Given the description of an element on the screen output the (x, y) to click on. 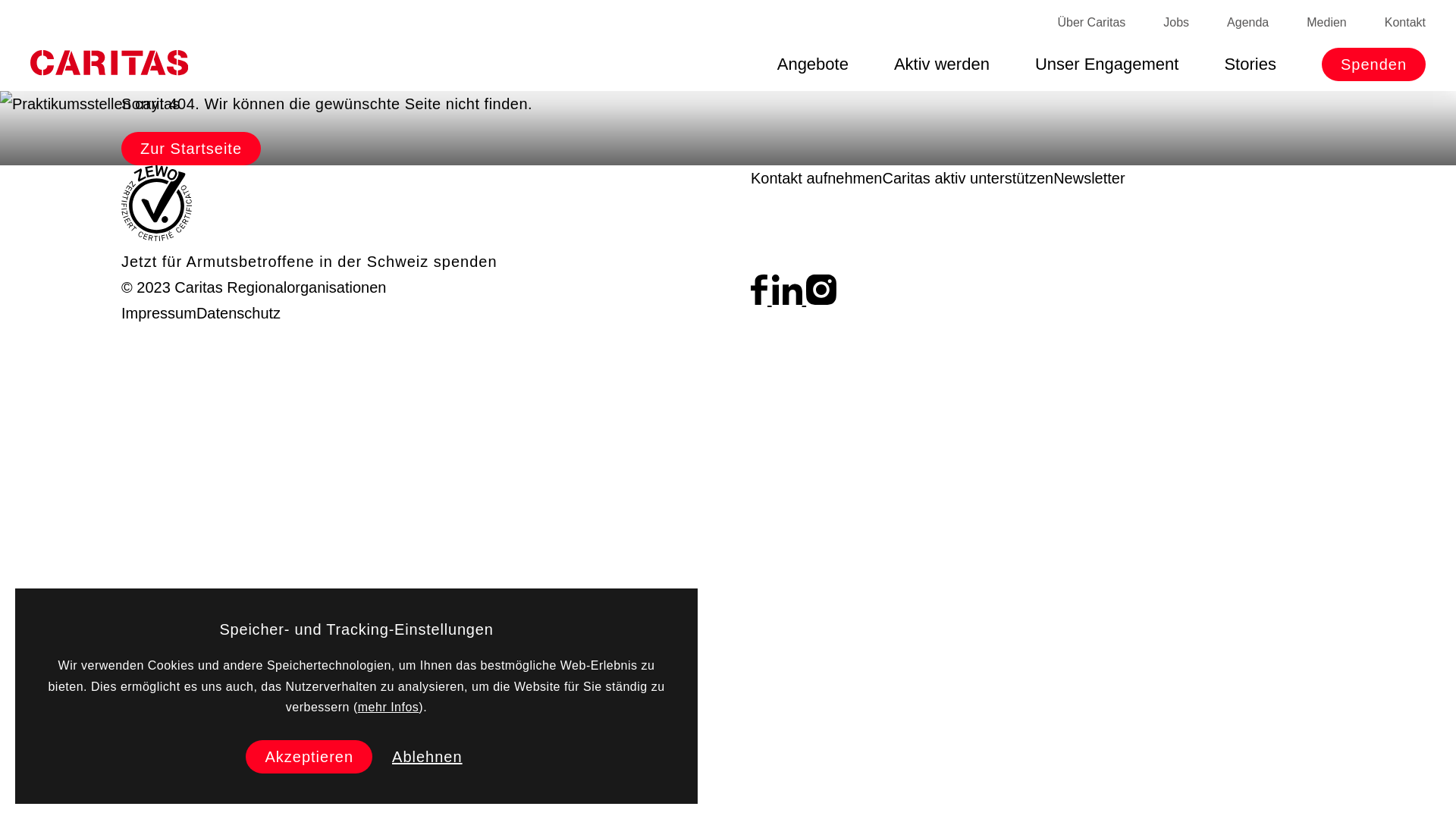
mehr Infos Element type: text (388, 706)
Aktiv werden Element type: text (941, 64)
Unser Engagement Element type: text (1107, 64)
Zewo Element type: text (156, 235)
Ablehnen Element type: text (427, 756)
Spenden Element type: text (1373, 64)
Datenschutz Element type: text (238, 312)
Agenda Element type: text (1247, 21)
Impressum Element type: text (158, 312)
Stories Element type: text (1249, 64)
Medien Element type: text (1326, 21)
Zur Startseite Element type: text (190, 148)
Startseite Element type: text (109, 62)
Kontakt Element type: text (1404, 21)
Open sub menu Element type: text (18, 18)
Angebote Element type: text (812, 64)
Kontakt aufnehmen Element type: text (815, 177)
Newsletter Element type: text (1088, 177)
Akzeptieren Element type: text (308, 756)
Jobs Element type: text (1176, 21)
